Given the description of an element on the screen output the (x, y) to click on. 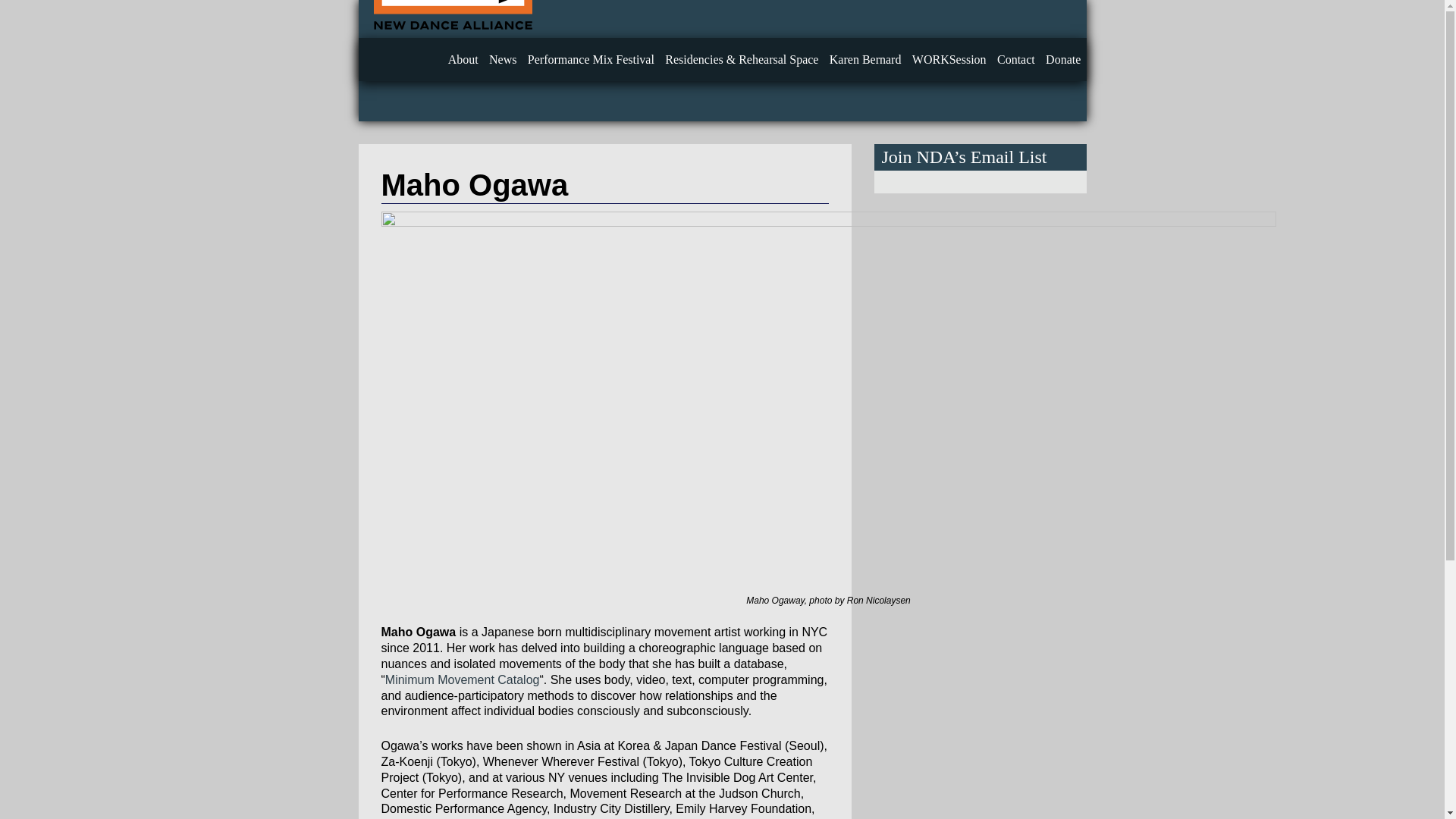
Performance Mix Festival (590, 59)
About (462, 59)
Karen Bernard (865, 59)
